Given the description of an element on the screen output the (x, y) to click on. 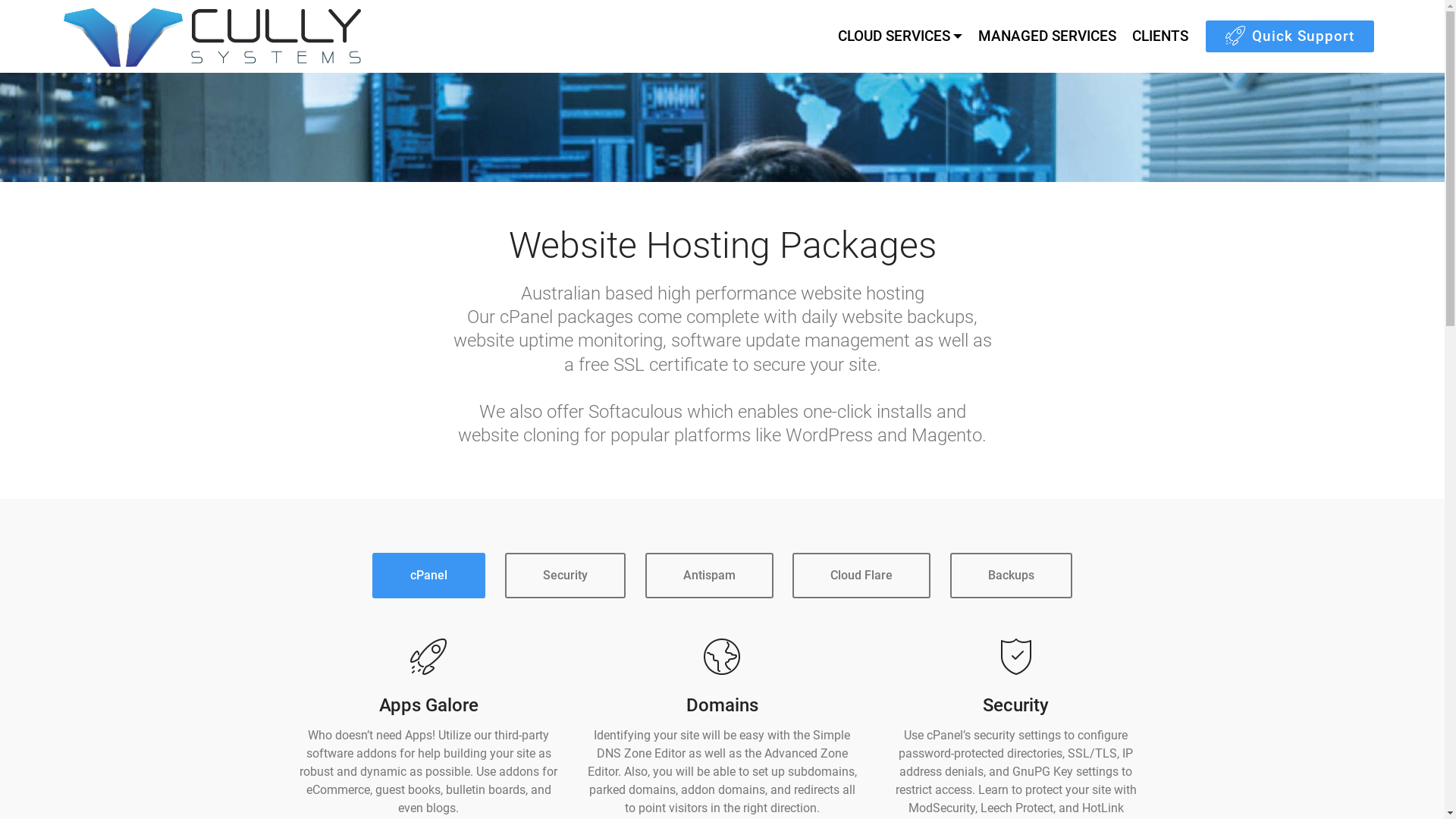
CLIENTS Element type: text (1160, 36)
Quick Support Element type: text (1289, 36)
CLOUD SERVICES Element type: text (899, 36)
cPanel Element type: text (428, 575)
MANAGED SERVICES Element type: text (1047, 36)
Backups Element type: text (1011, 575)
Cloud Flare Element type: text (861, 575)
Security Element type: text (565, 575)
Antispam Element type: text (708, 575)
